Given the description of an element on the screen output the (x, y) to click on. 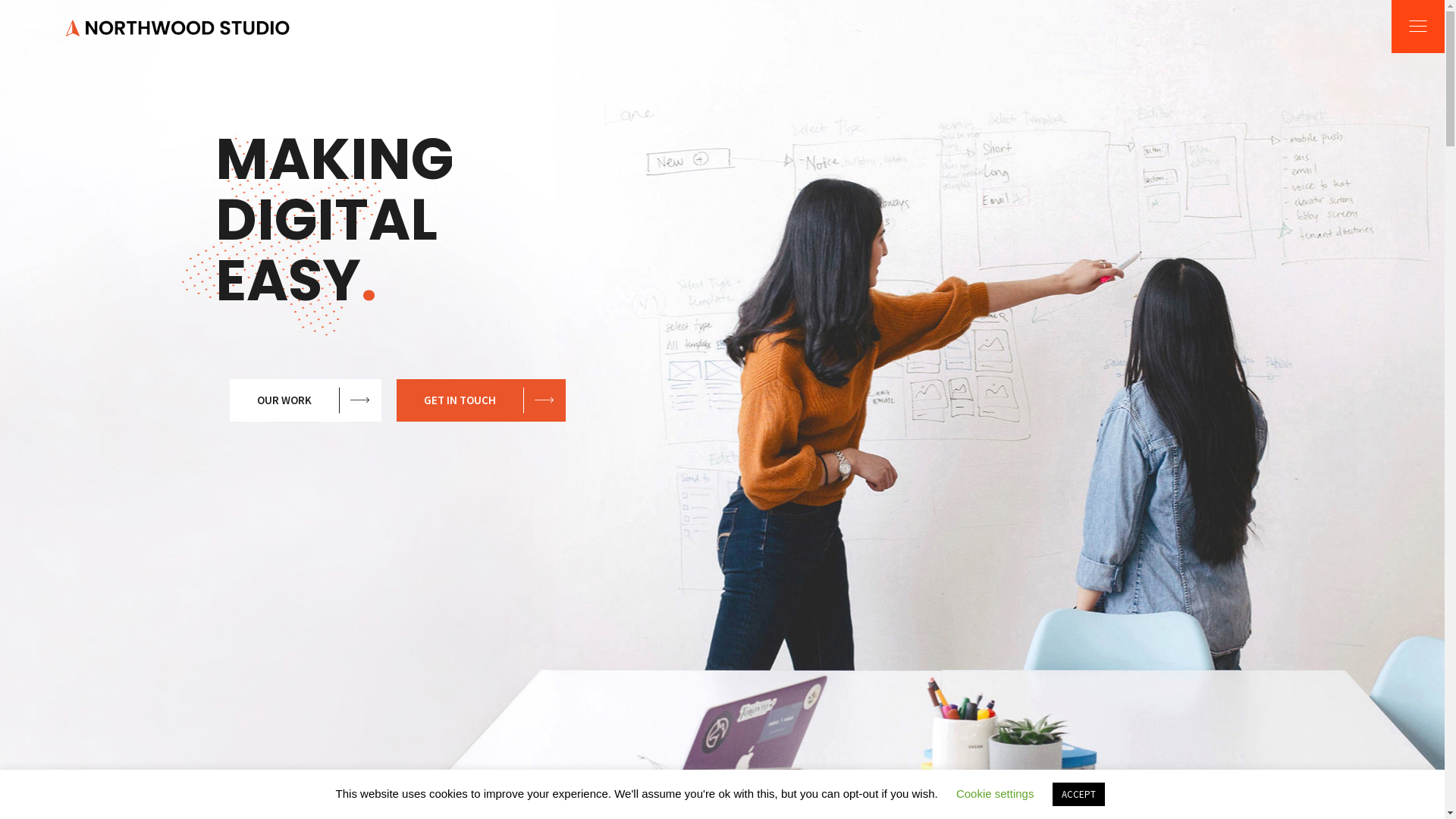
ACCEPT Element type: text (1078, 794)
OUR WORK Element type: text (305, 400)
. Element type: text (368, 280)
GET IN TOUCH Element type: text (480, 400)
Cookie settings Element type: text (995, 793)
